Given the description of an element on the screen output the (x, y) to click on. 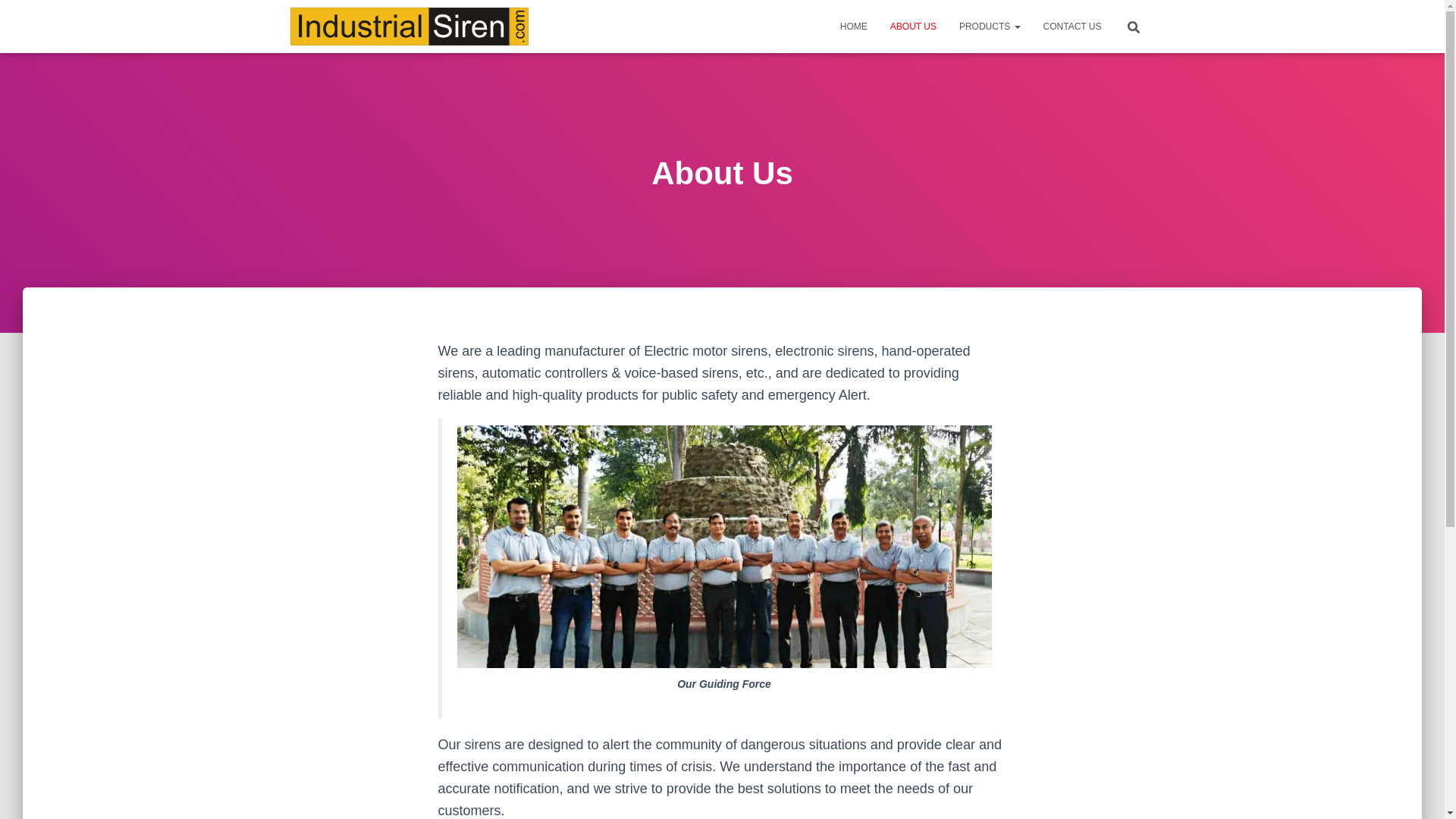
HOME (853, 26)
Products (989, 26)
About Us (913, 26)
Industrial Sirens (409, 26)
ABOUT US (913, 26)
PRODUCTS (989, 26)
Home (853, 26)
